Given the description of an element on the screen output the (x, y) to click on. 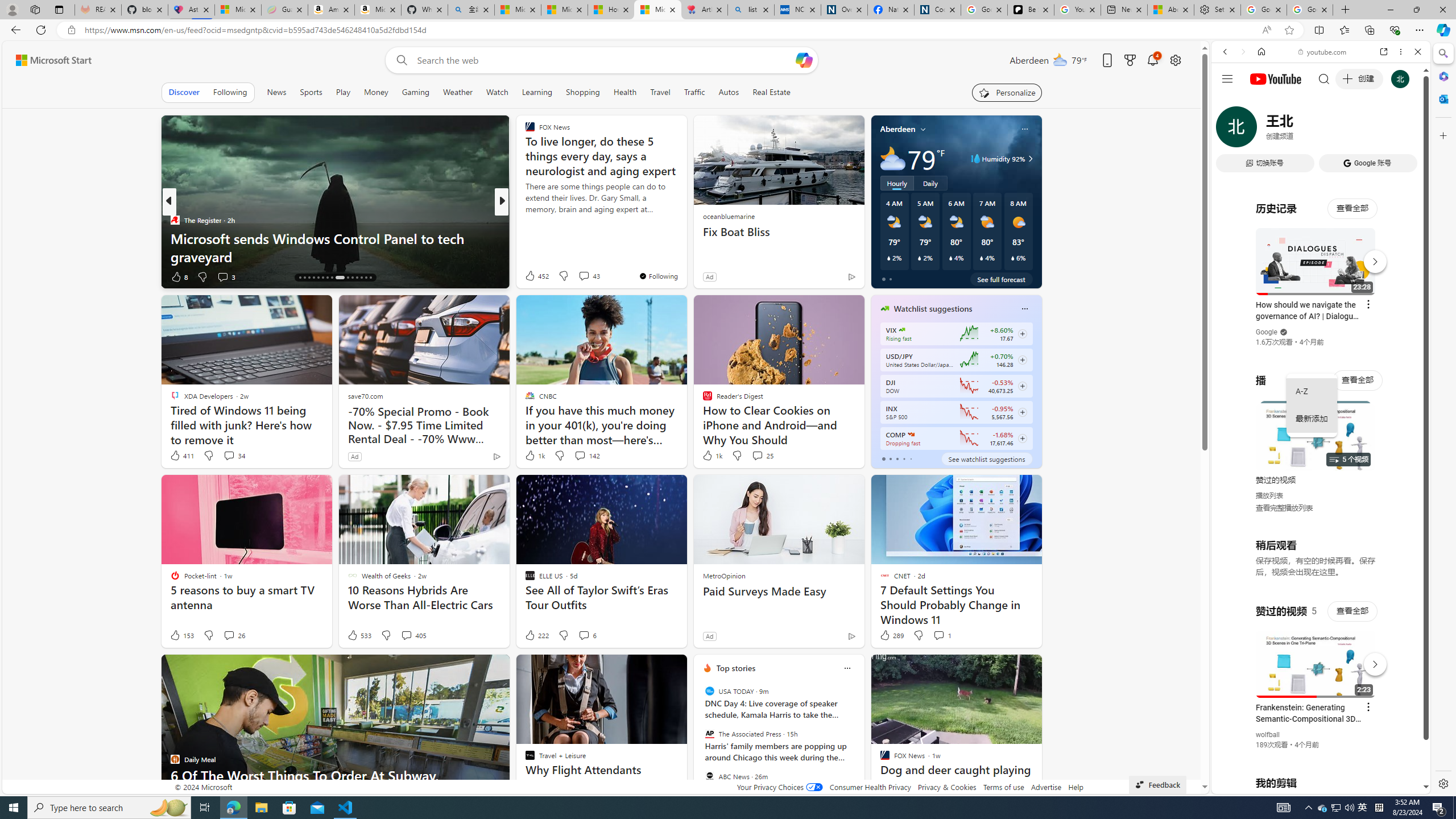
HowToGeek (524, 219)
you (1315, 755)
Class: weather-current-precipitation-glyph (1012, 257)
A-Z (1311, 391)
AutomationID: tab-30 (370, 277)
Shopping (583, 92)
Fix Boat Bliss (778, 232)
Cookies (937, 9)
View comments 142 Comment (586, 455)
Class: follow-button  m (1021, 438)
